Given the description of an element on the screen output the (x, y) to click on. 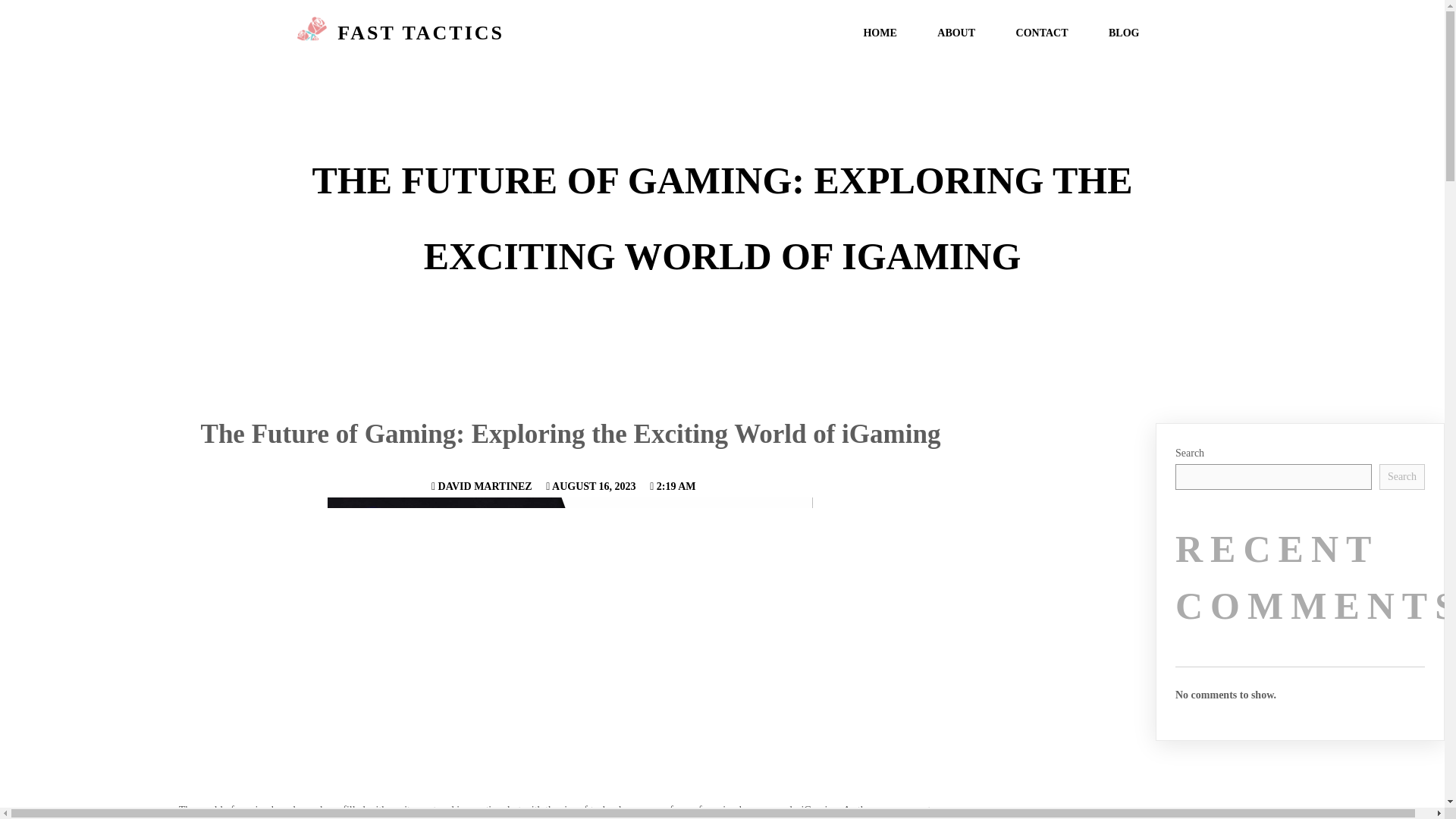
ABOUT (956, 33)
FAST TACTICS (500, 32)
Search (1401, 476)
HOME (879, 33)
CONTACT (1042, 33)
logo (311, 32)
AUGUST 16, 2023 (590, 486)
2:19 AM (672, 486)
DAVID MARTINEZ (481, 486)
